Given the description of an element on the screen output the (x, y) to click on. 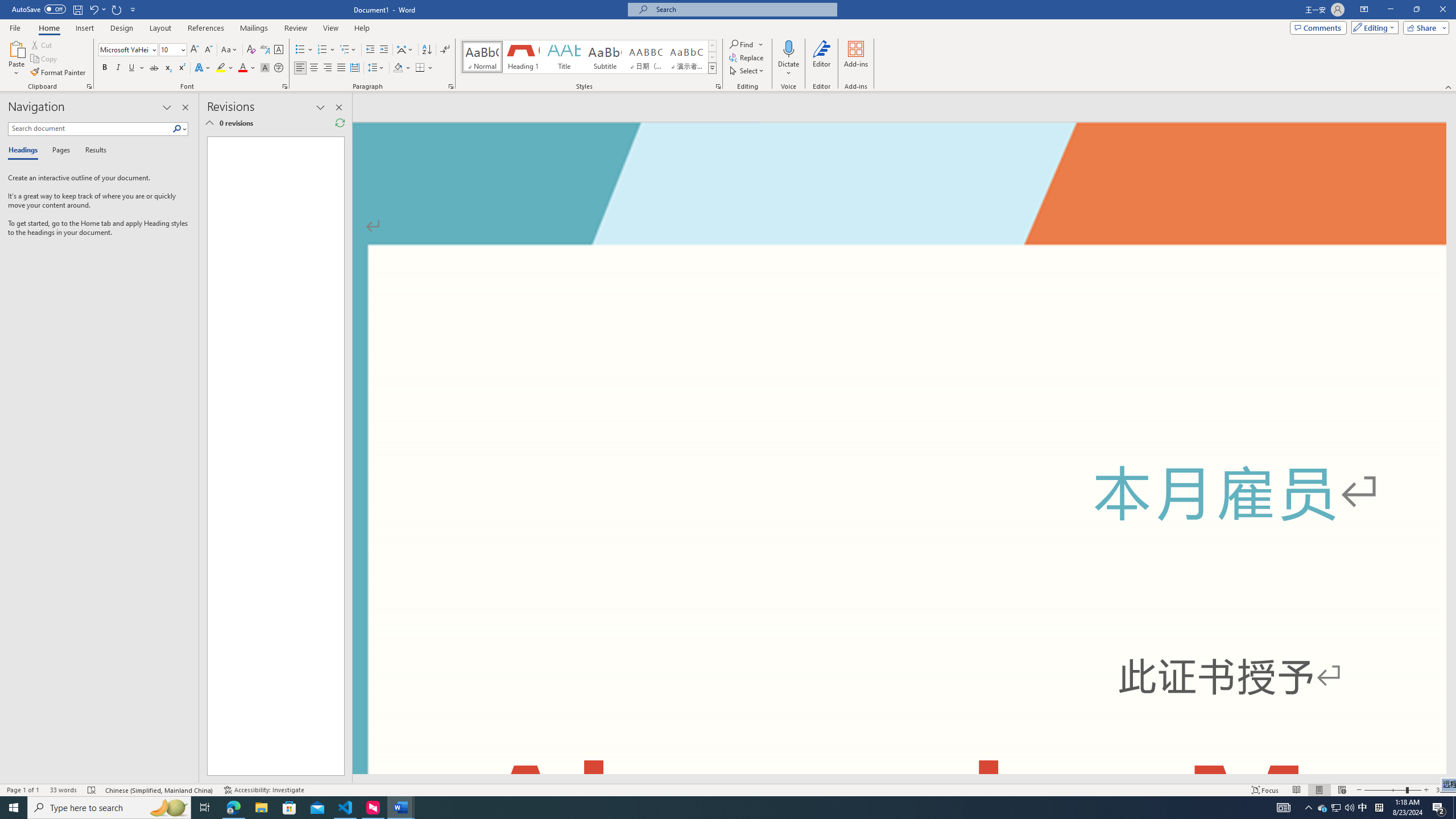
Show Detailed Summary (209, 122)
